Given the description of an element on the screen output the (x, y) to click on. 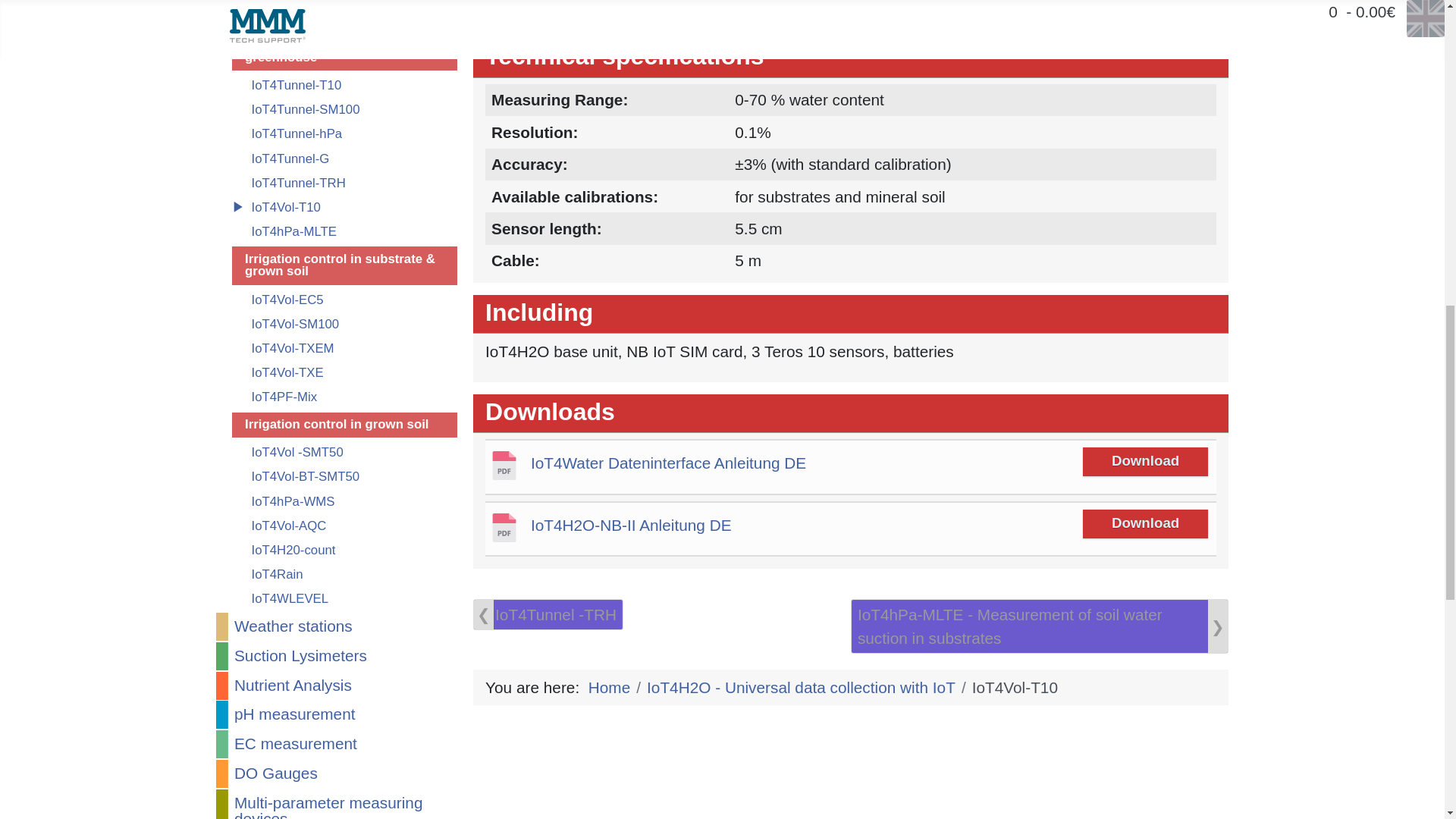
IoT4Tunnel-SM100 (344, 108)
IoT4Vol-T10 (344, 207)
IoT4Vol-TXEM (344, 348)
IoT4PF-Mix (344, 396)
Turnkey IoT for water packages (344, 16)
IoT4hPa-WMS (344, 501)
Download (631, 525)
IoT4Tunnel-G (344, 158)
IoT4Tunnel-hPa (344, 133)
